Given the description of an element on the screen output the (x, y) to click on. 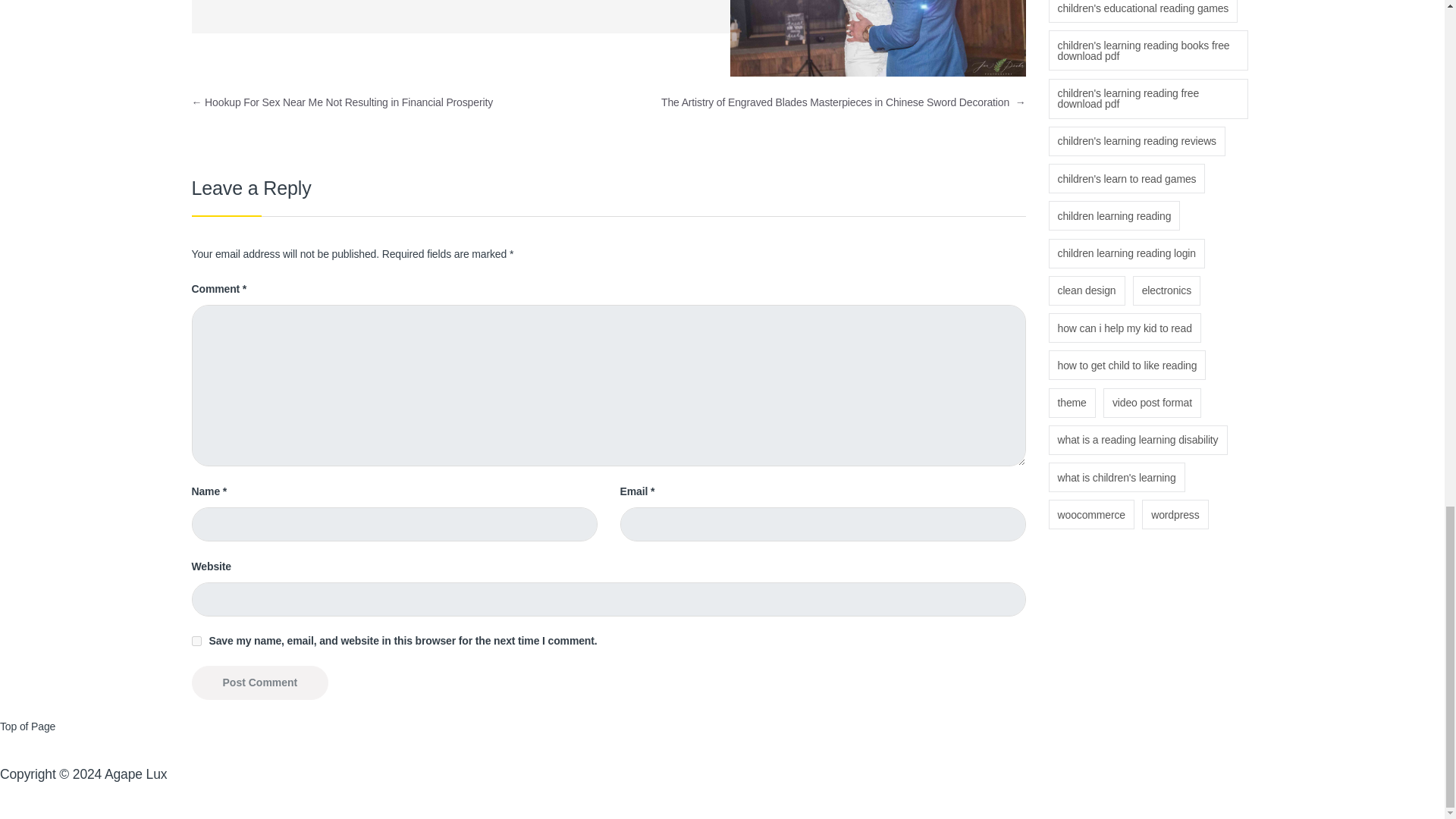
Agape Lux (135, 774)
yes (195, 641)
Post Comment (259, 682)
Post Comment (259, 682)
